Given the description of an element on the screen output the (x, y) to click on. 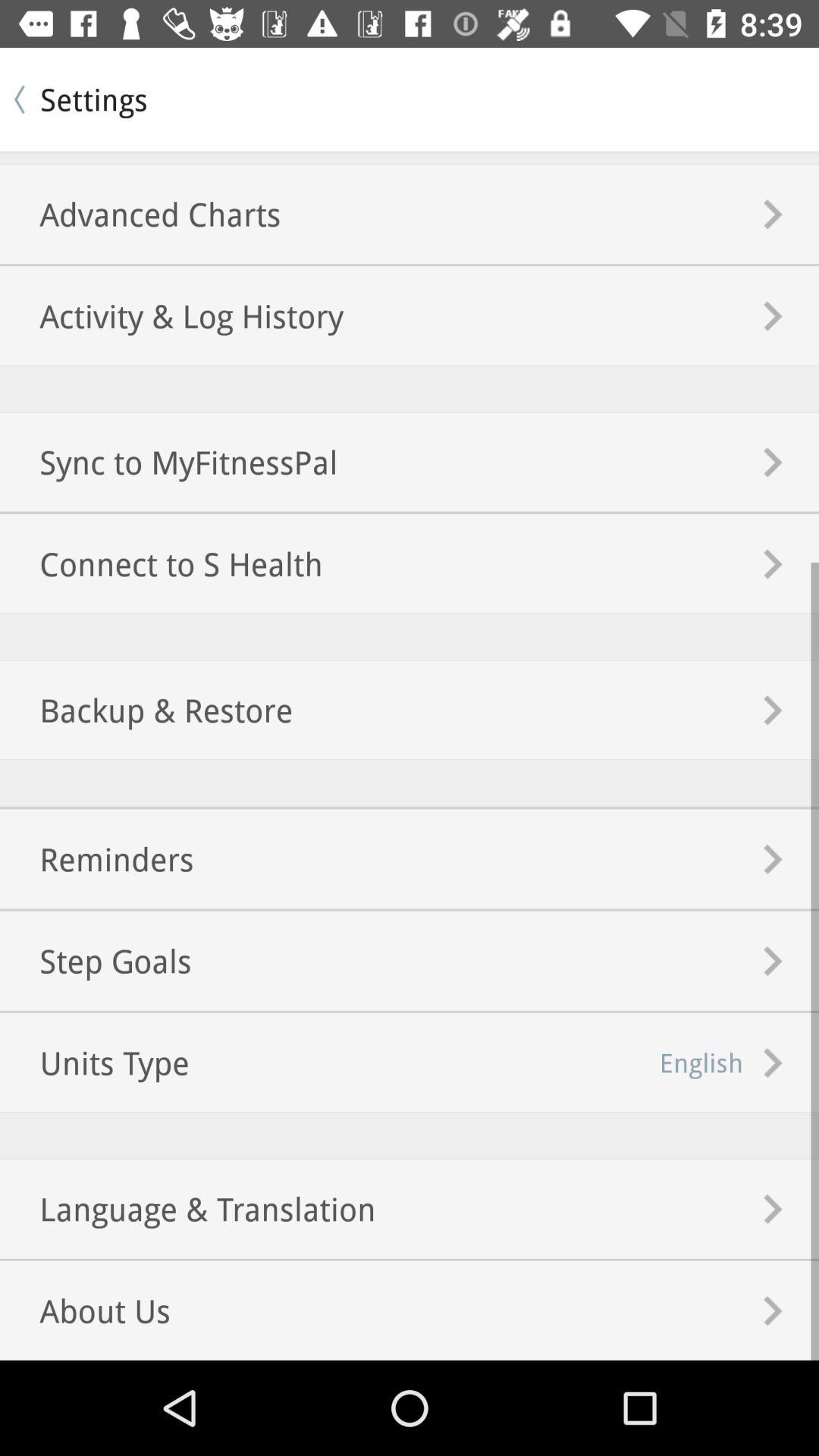
select connect to s icon (161, 563)
